Given the description of an element on the screen output the (x, y) to click on. 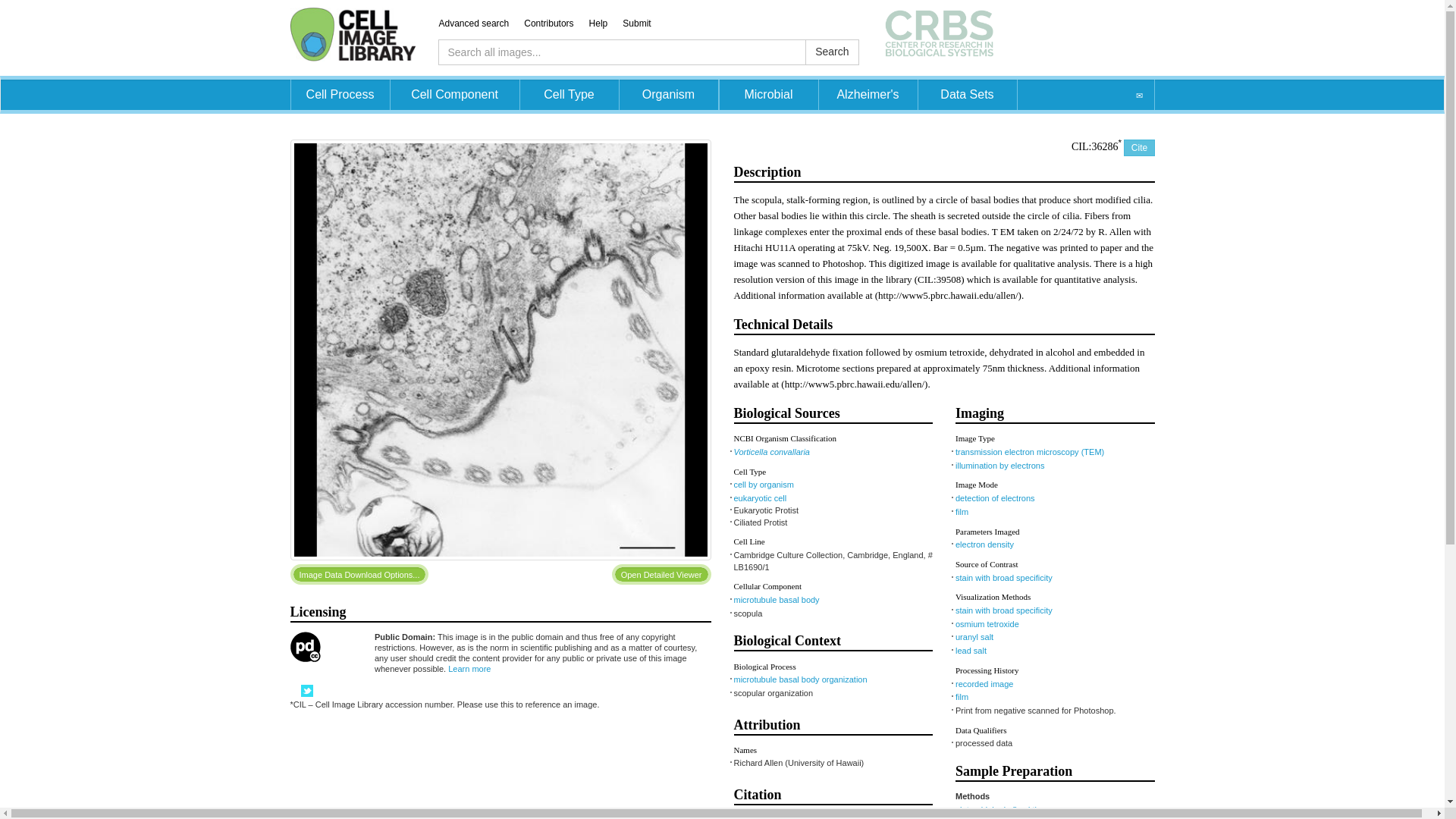
Cell Component (454, 94)
Cell Type (568, 94)
Contributors (556, 23)
film (961, 511)
Advanced search (481, 23)
eukaryotic cell (760, 497)
microtubule basal body organization (800, 678)
Open Detailed Viewer (661, 574)
Alzheimer's (867, 94)
Help (606, 23)
